Given the description of an element on the screen output the (x, y) to click on. 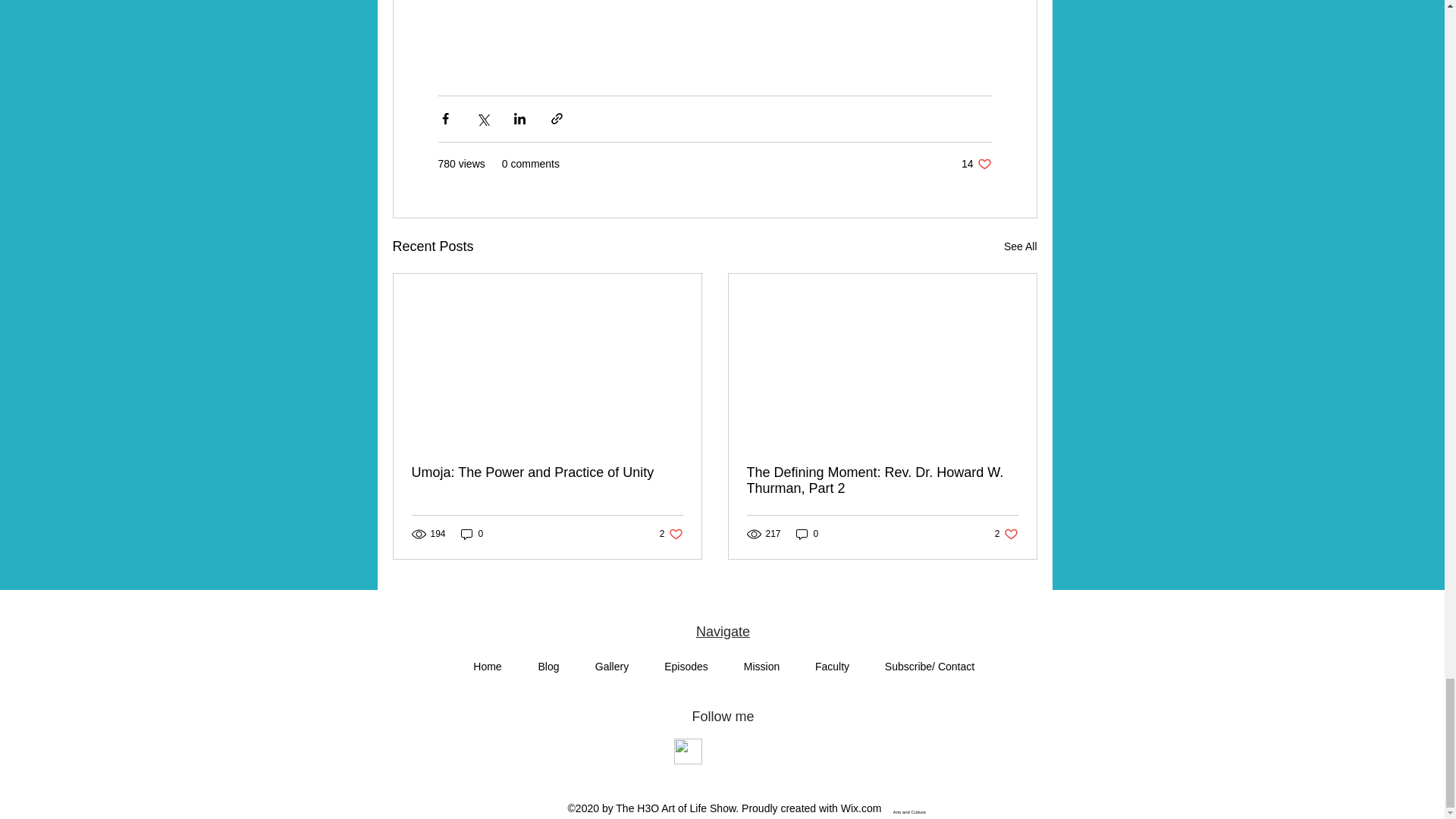
See All (1020, 246)
0 (807, 534)
Umoja: The Power and Practice of Unity (546, 472)
Episodes (685, 666)
Mission (761, 666)
Home (1005, 534)
Gallery (486, 666)
The Defining Moment: Rev. Dr. Howard W. Thurman, Part 2 (612, 666)
0 (670, 534)
Blog (975, 164)
